Given the description of an element on the screen output the (x, y) to click on. 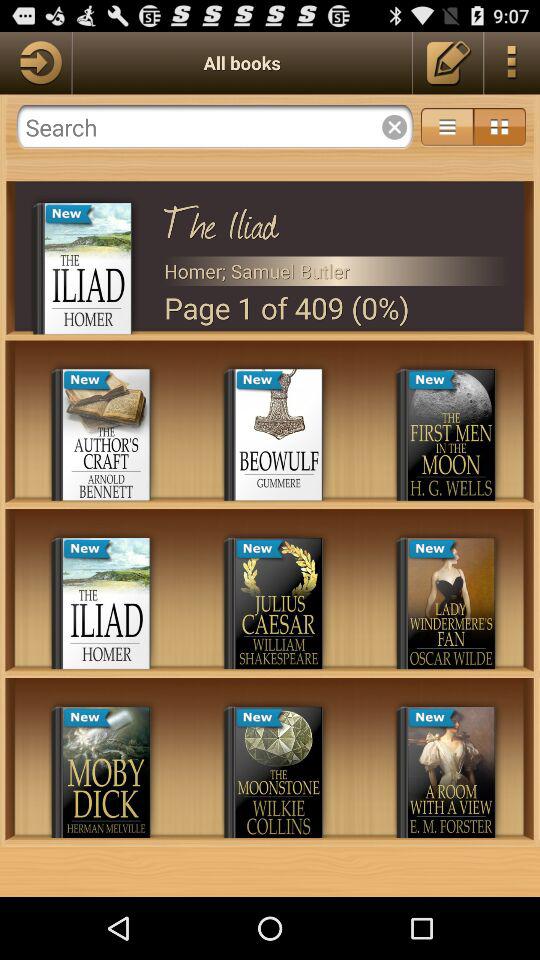
go to search (214, 127)
